Given the description of an element on the screen output the (x, y) to click on. 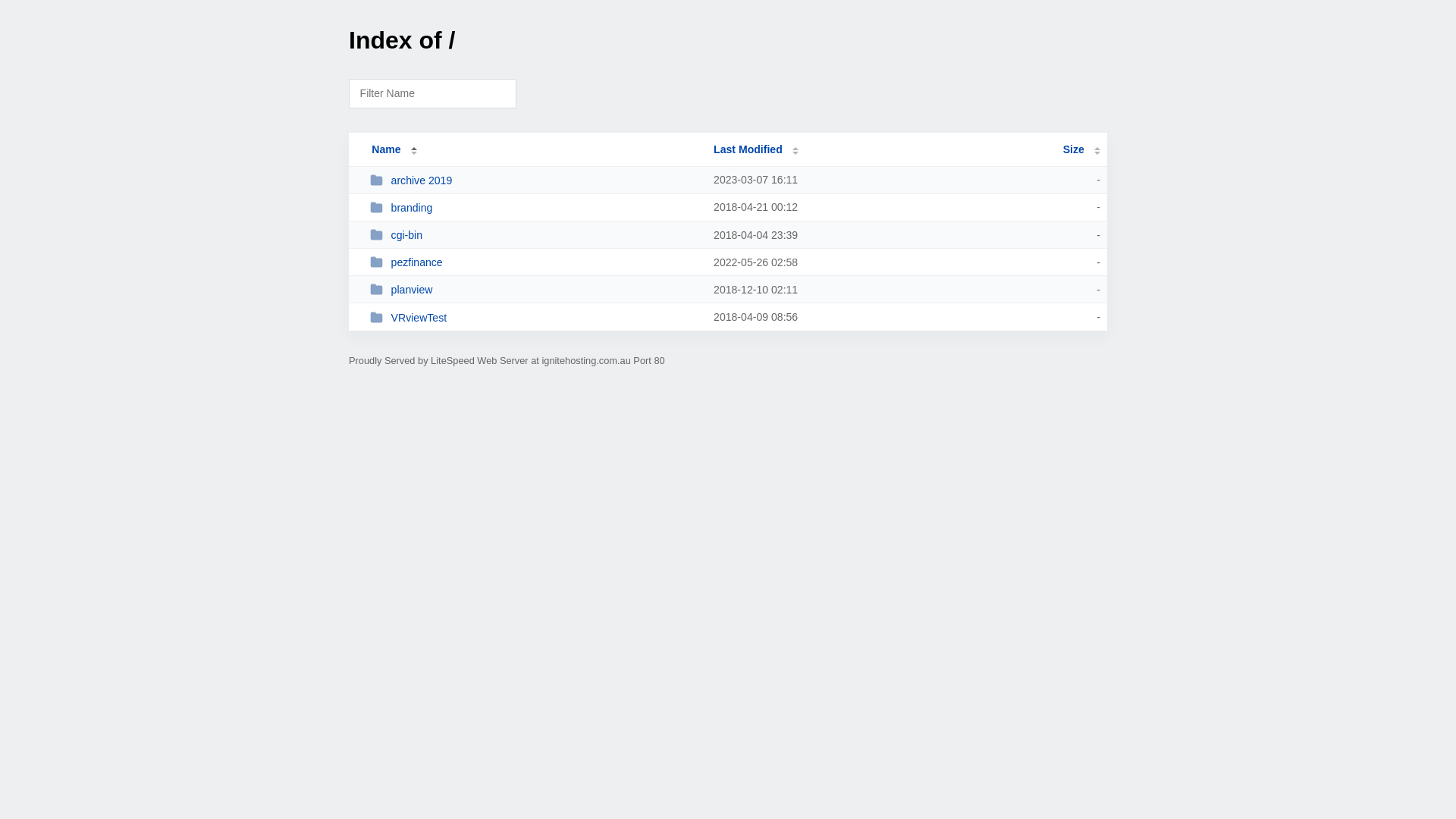
pezfinance Element type: text (534, 261)
branding Element type: text (534, 206)
Size Element type: text (1081, 149)
cgi-bin Element type: text (534, 234)
Name Element type: text (385, 149)
Last Modified Element type: text (755, 149)
planview Element type: text (534, 288)
archive 2019 Element type: text (534, 179)
VRviewTest Element type: text (534, 316)
